Given the description of an element on the screen output the (x, y) to click on. 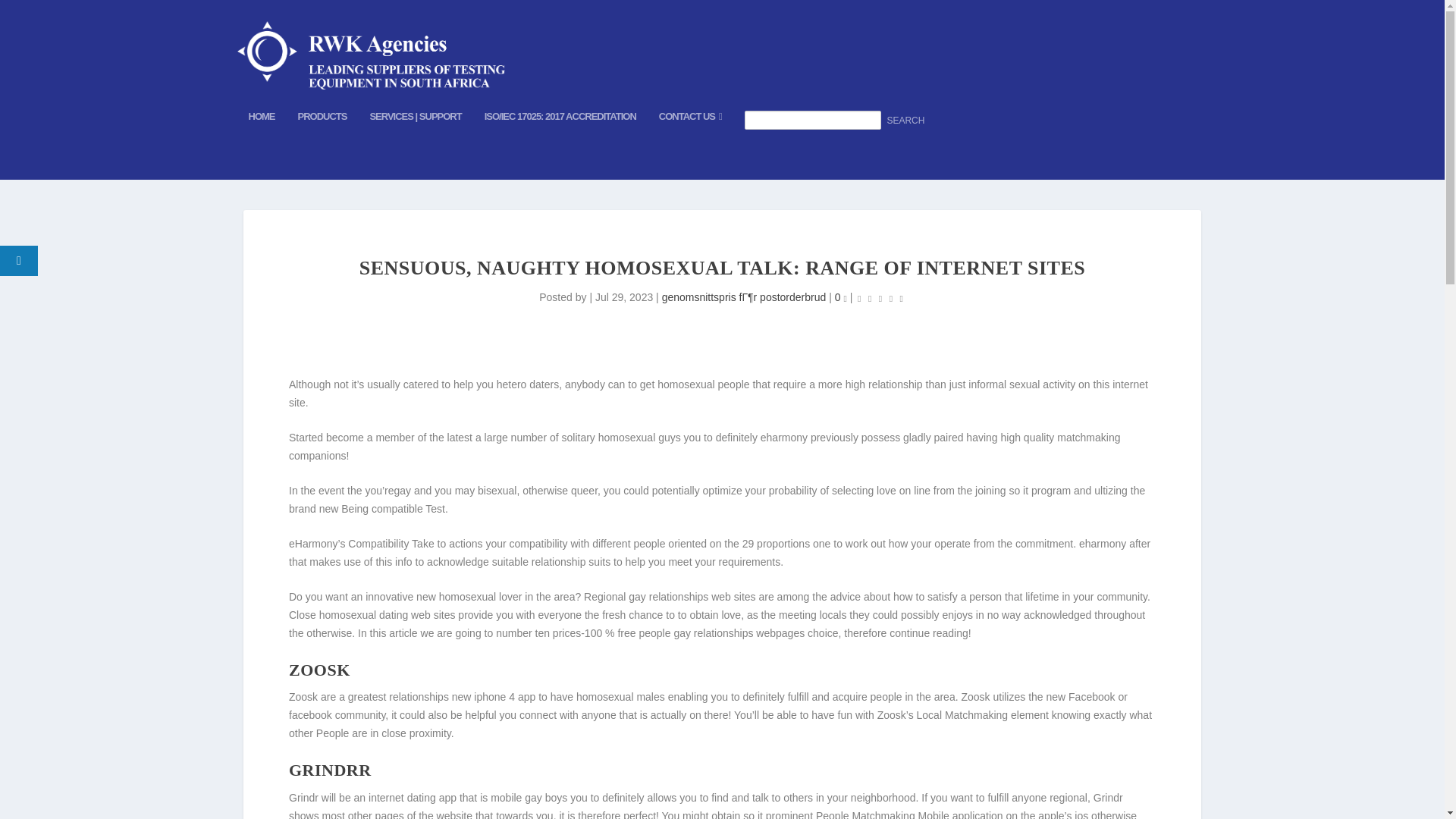
Search (905, 120)
Search (905, 120)
0 (840, 297)
Rating: 0.00 (880, 298)
SEARCH FOR: (836, 145)
CONTACT US (690, 141)
